Given the description of an element on the screen output the (x, y) to click on. 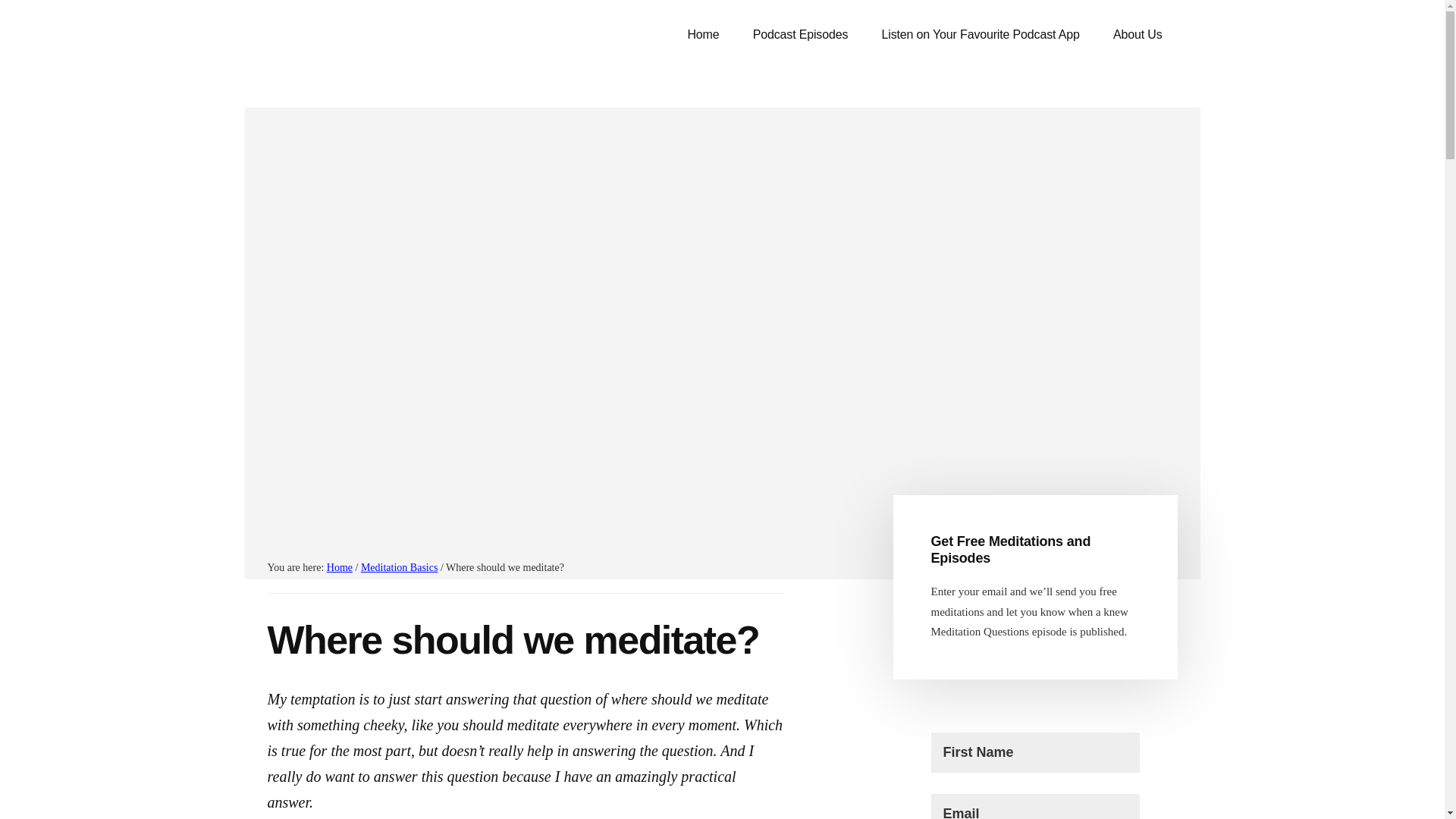
Meditation Basics (399, 567)
Listen on Your Favourite Podcast App (980, 34)
Home (339, 567)
About Us (1137, 34)
Podcast Episodes (800, 34)
Home (702, 34)
